Given the description of an element on the screen output the (x, y) to click on. 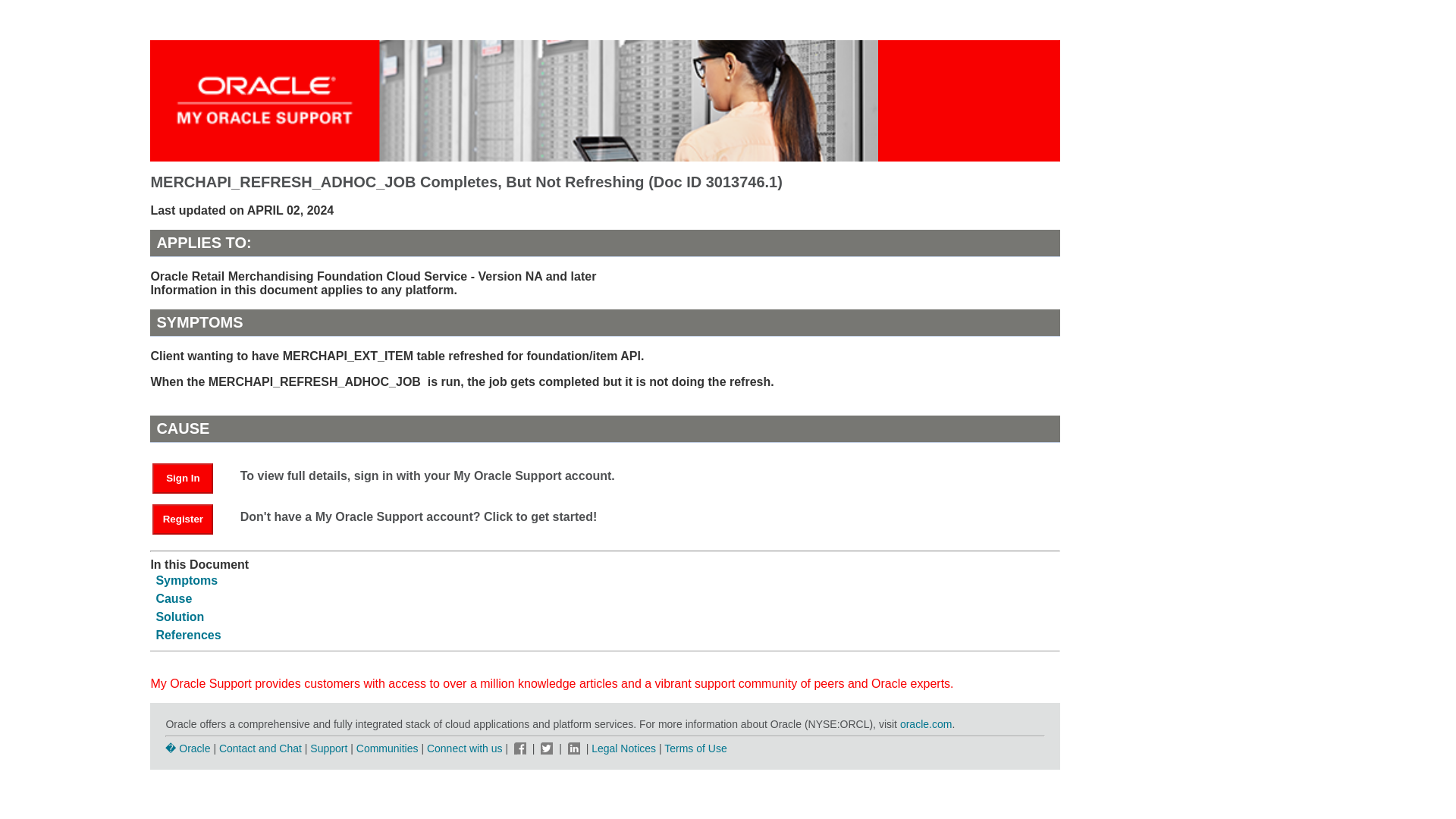
Cause (173, 598)
Solution (179, 616)
oracle.com (925, 724)
Register (182, 519)
References (188, 634)
Sign In (182, 478)
Register (190, 517)
Support (328, 748)
Legal Notices (623, 748)
Connect with us (465, 748)
Sign In (190, 477)
Terms of Use (694, 748)
Symptoms (185, 580)
Contact and Chat (260, 748)
oracle.com (925, 724)
